Given the description of an element on the screen output the (x, y) to click on. 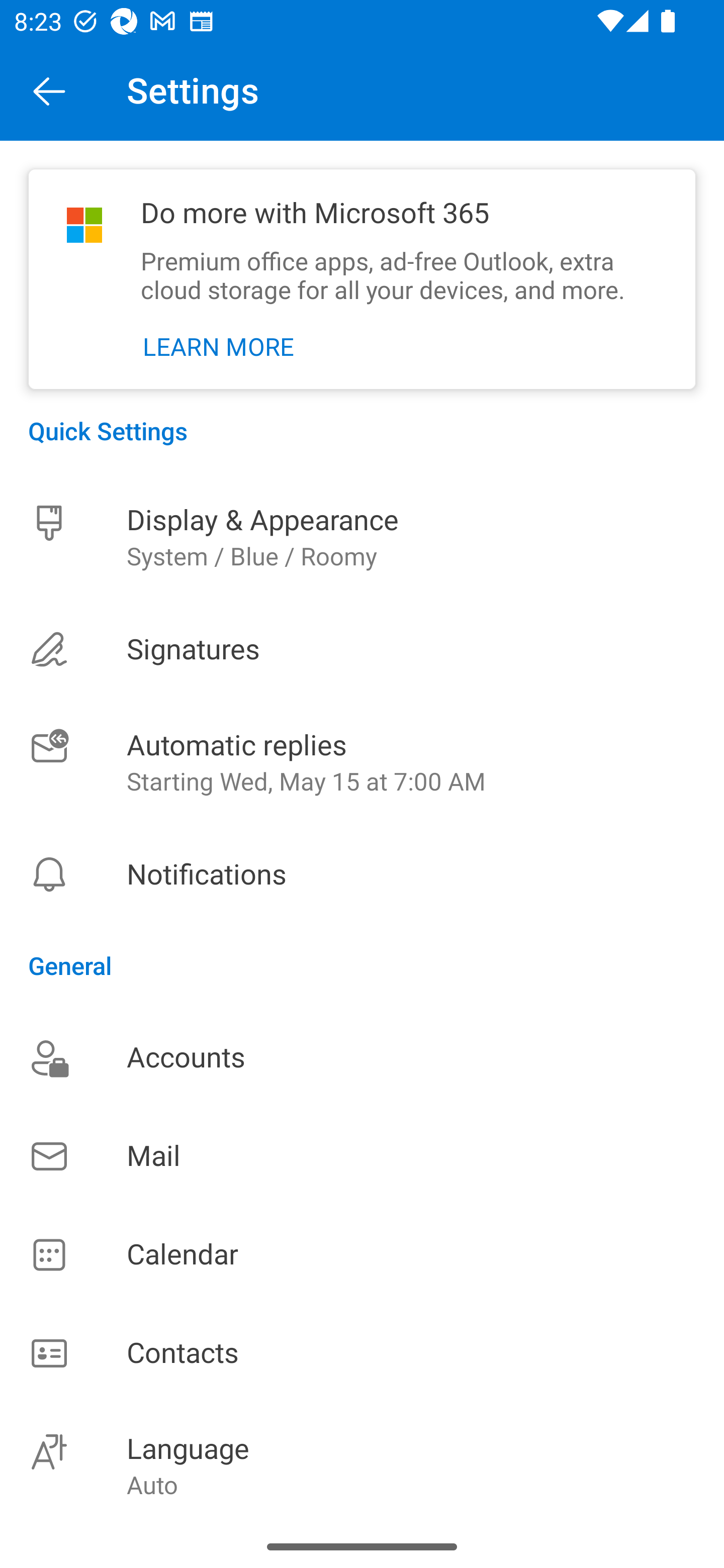
Back (49, 90)
LEARN MORE (218, 346)
Display & Appearance System / Blue / Roomy (362, 536)
Signatures (362, 649)
Automatic replies Starting Wed, May 15 at 7:00 AM (362, 762)
Notifications (362, 874)
Accounts (362, 1057)
Mail (362, 1156)
Calendar (362, 1254)
Contacts (362, 1353)
Language Auto (362, 1464)
